Given the description of an element on the screen output the (x, y) to click on. 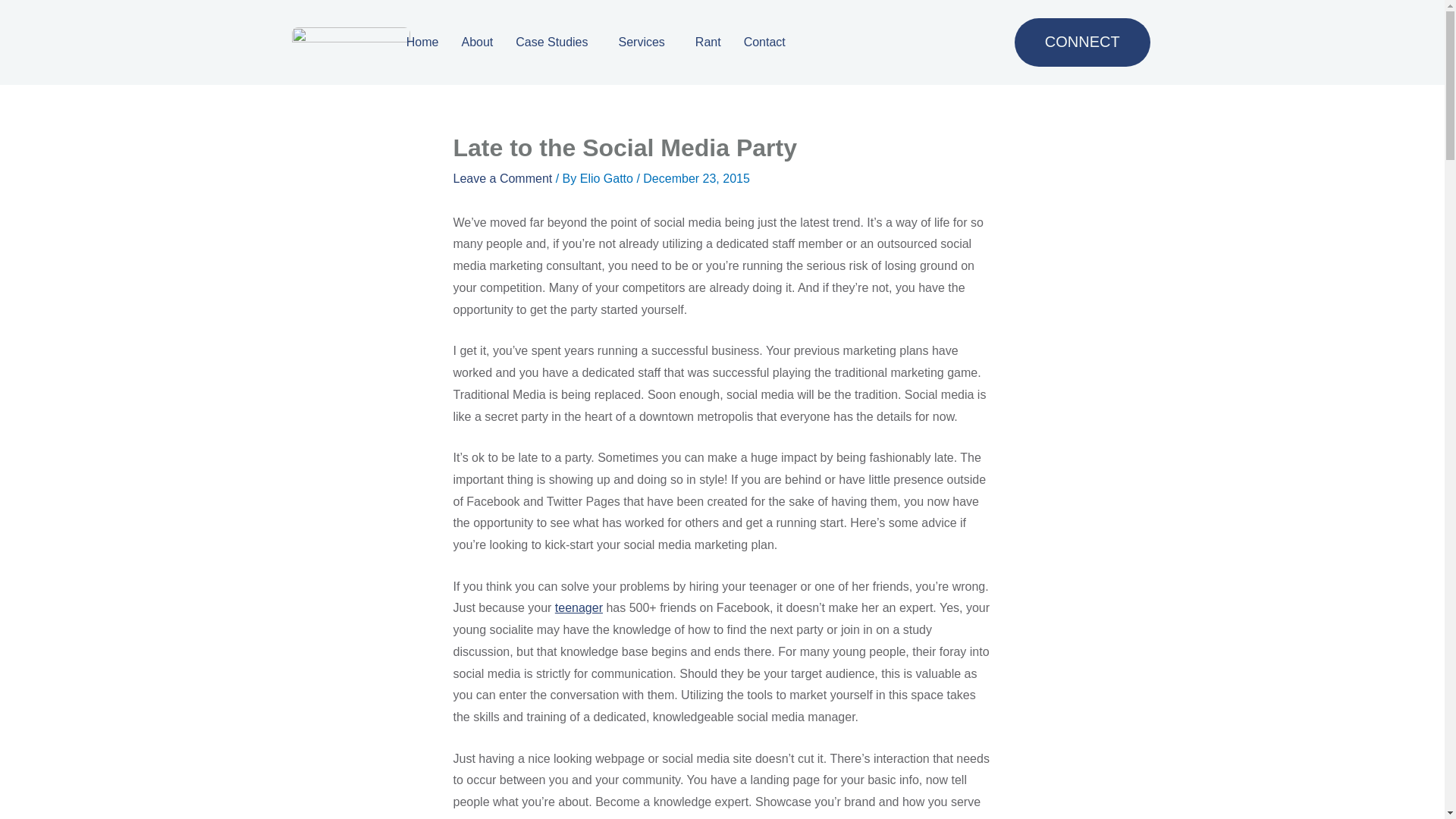
Contact (768, 42)
CONNECT (1082, 42)
Services (644, 42)
Rant (708, 42)
teenager (578, 607)
Home (421, 42)
Elio Gatto (608, 178)
Leave a Comment (502, 178)
Case Studies (555, 42)
About (477, 42)
View all posts by Elio Gatto (608, 178)
